Given the description of an element on the screen output the (x, y) to click on. 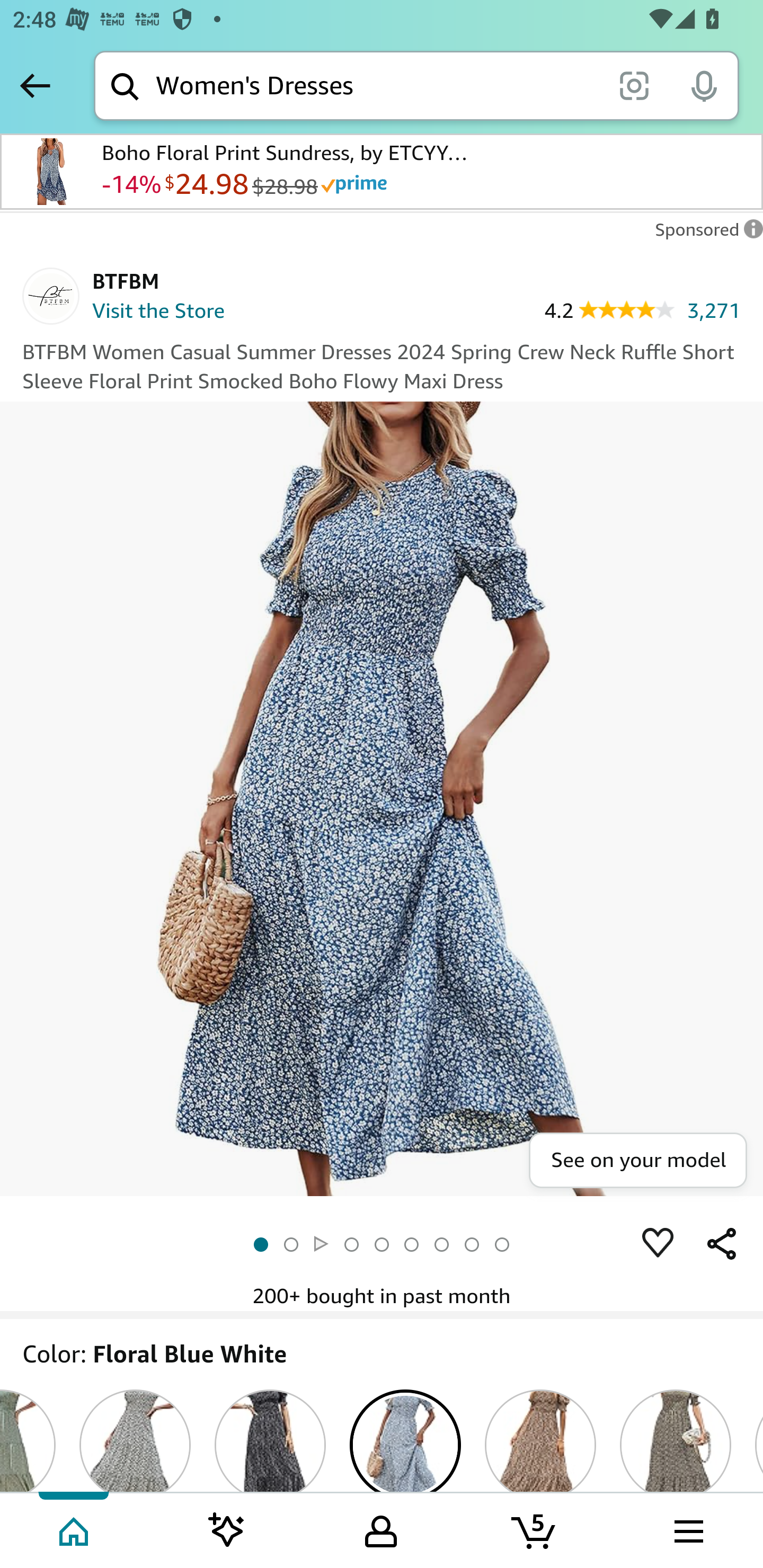
Back (35, 85)
scan it (633, 85)
Leave feedback on Sponsored ad Sponsored  (703, 234)
4.2 3,271 4.2  3,271 (641, 309)
Visit the Store, BTFBM (131, 312)
See on your model (637, 1159)
Heart to save an item to your default list (657, 1243)
Home Tab 1 of 5 (75, 1529)
Inspire feed Tab 2 of 5 (227, 1529)
Your Amazon.com Tab 3 of 5 (380, 1529)
Cart 5 items Tab 4 of 5 5 (534, 1529)
Browse menu Tab 5 of 5 (687, 1529)
